Given the description of an element on the screen output the (x, y) to click on. 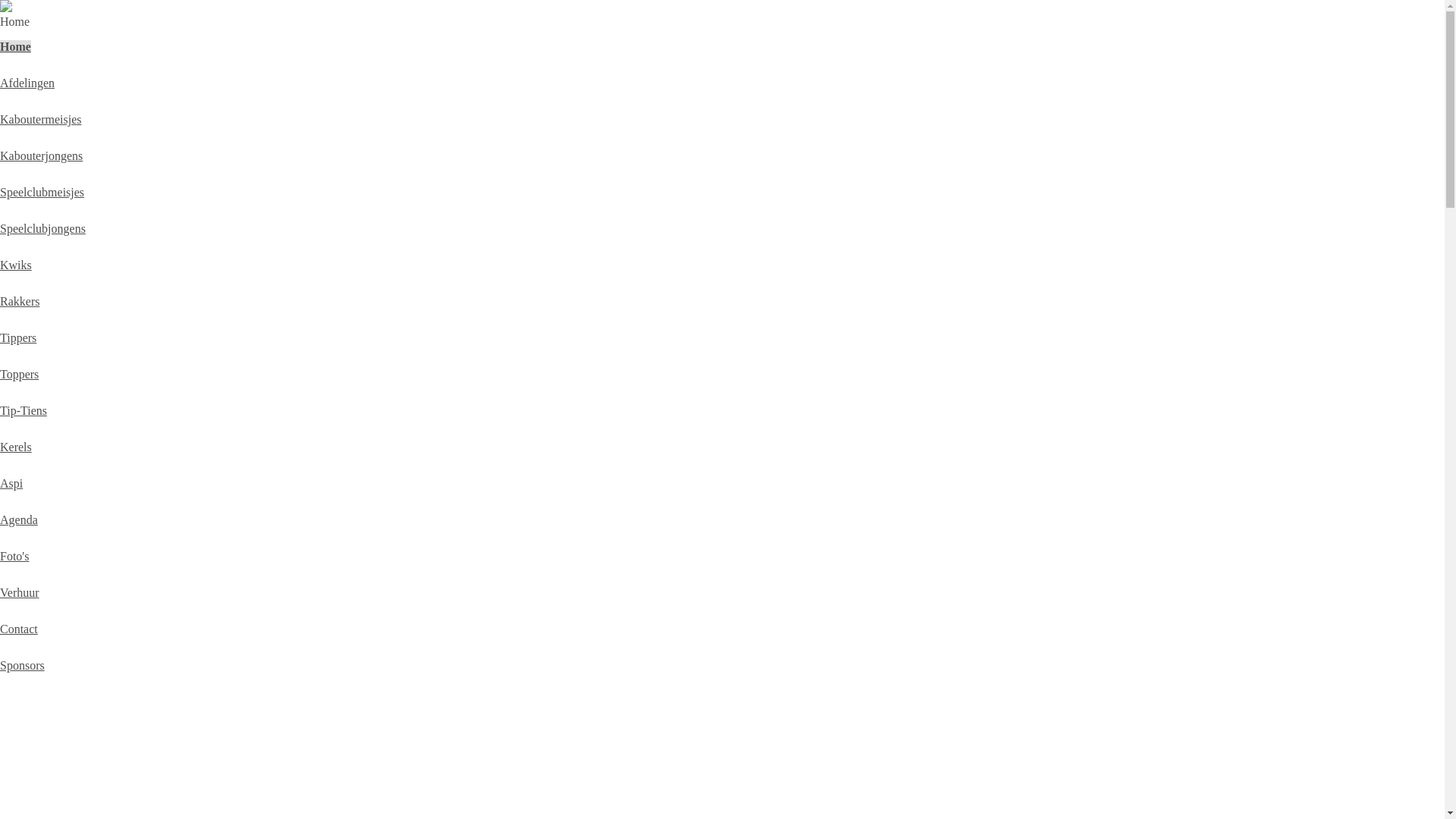
Contact Element type: text (18, 628)
Speelclubmeisjes Element type: text (42, 191)
Tip-Tiens Element type: text (23, 410)
Rakkers Element type: text (19, 300)
Tippers Element type: text (18, 337)
Verhuur Element type: text (19, 592)
Kwiks Element type: text (15, 264)
Kabouterjongens Element type: text (41, 155)
Agenda Element type: text (18, 519)
Sponsors Element type: text (22, 664)
Afdelingen Element type: text (27, 82)
Kaboutermeisjes Element type: text (40, 118)
Speelclubjongens Element type: text (42, 228)
Foto's Element type: text (14, 555)
Kerels Element type: text (15, 446)
Aspi Element type: text (11, 482)
Toppers Element type: text (19, 373)
Home Element type: text (15, 46)
